Given the description of an element on the screen output the (x, y) to click on. 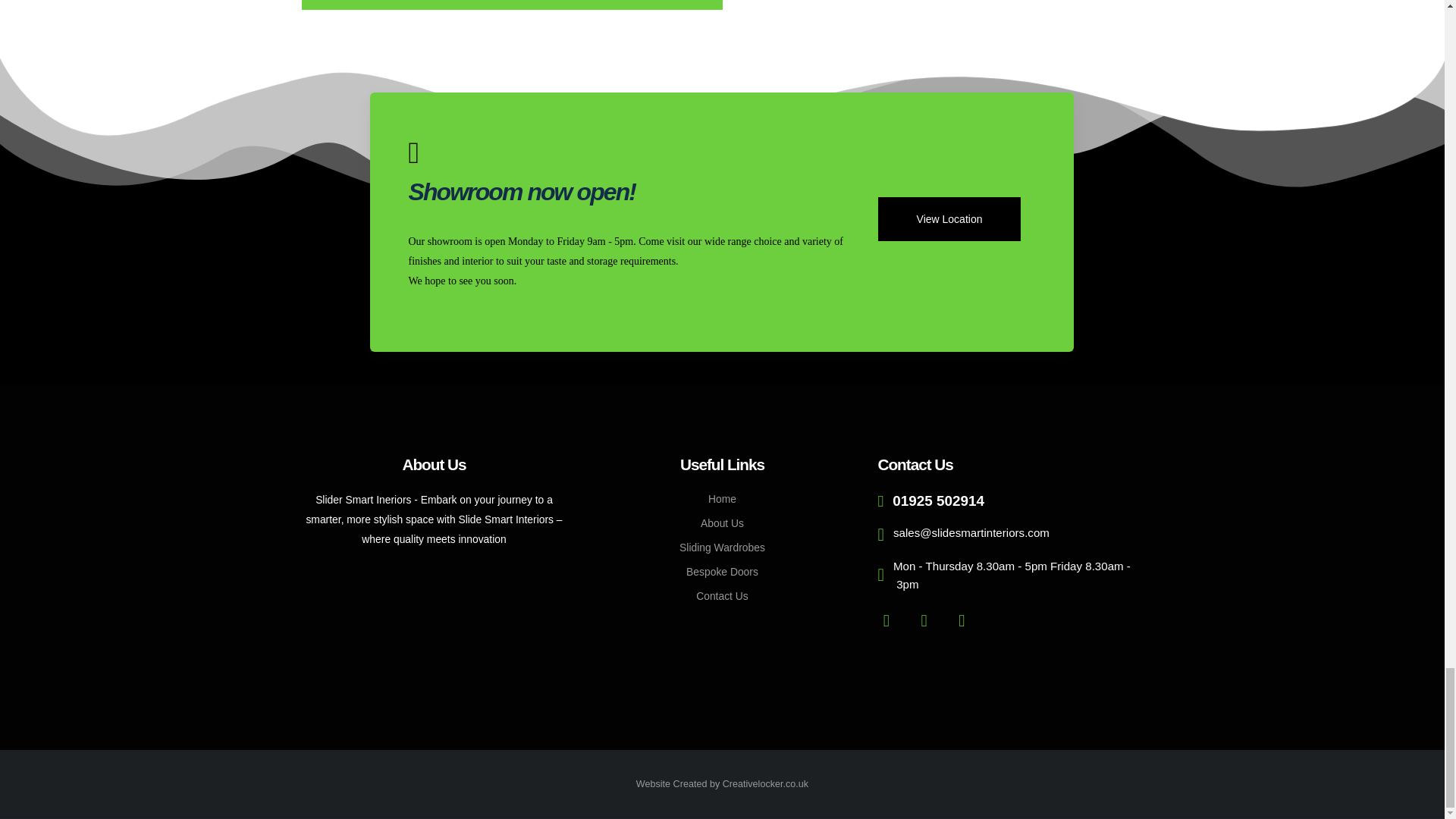
Home (721, 499)
Sliding Wardrobes (722, 547)
View Location (949, 218)
About Us (722, 522)
